Given the description of an element on the screen output the (x, y) to click on. 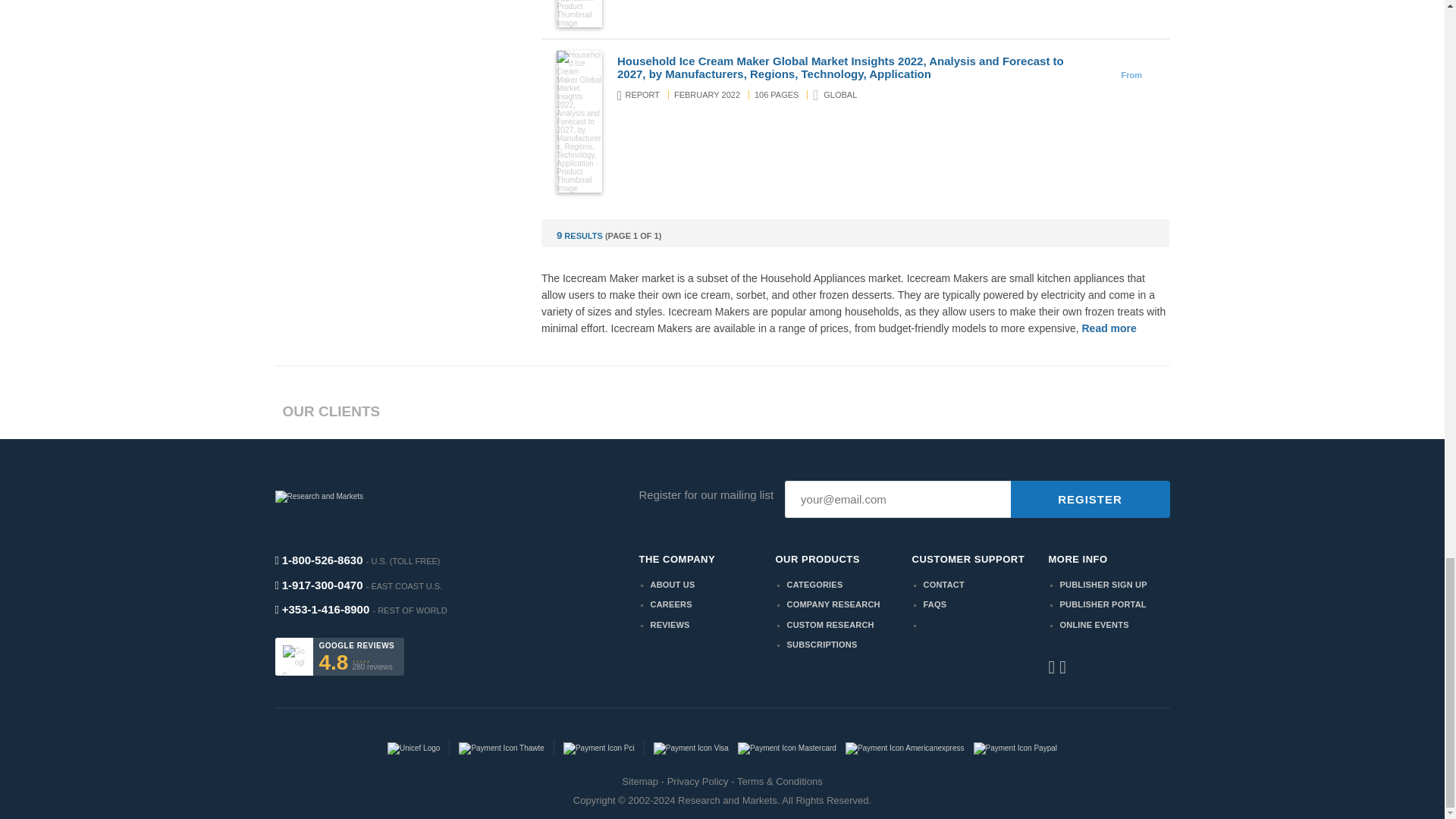
PayPal (1016, 747)
VISA (691, 747)
Thawte (500, 747)
UNICEF Partner (413, 747)
PCI Compliant (598, 747)
American Express (904, 747)
MasterCard (786, 747)
